Given the description of an element on the screen output the (x, y) to click on. 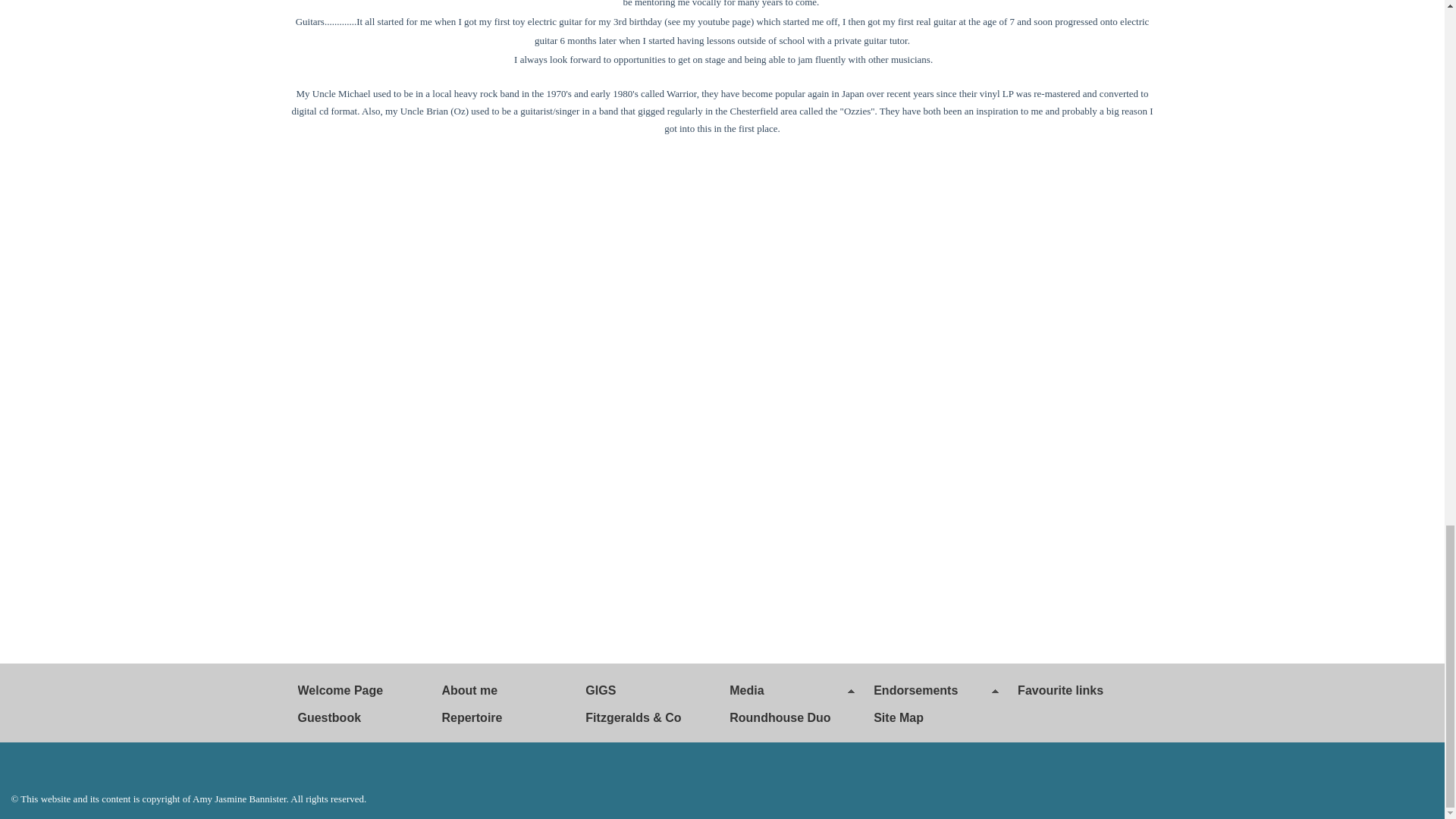
Repertoire (505, 710)
About me (505, 683)
Site Map (938, 710)
Welcome Page (361, 683)
GIGS (650, 683)
Favourite links (1082, 683)
Endorsements (938, 683)
Welcome Page (361, 683)
Guestbook (361, 710)
Media (794, 683)
Roundhouse Duo (794, 710)
